Given the description of an element on the screen output the (x, y) to click on. 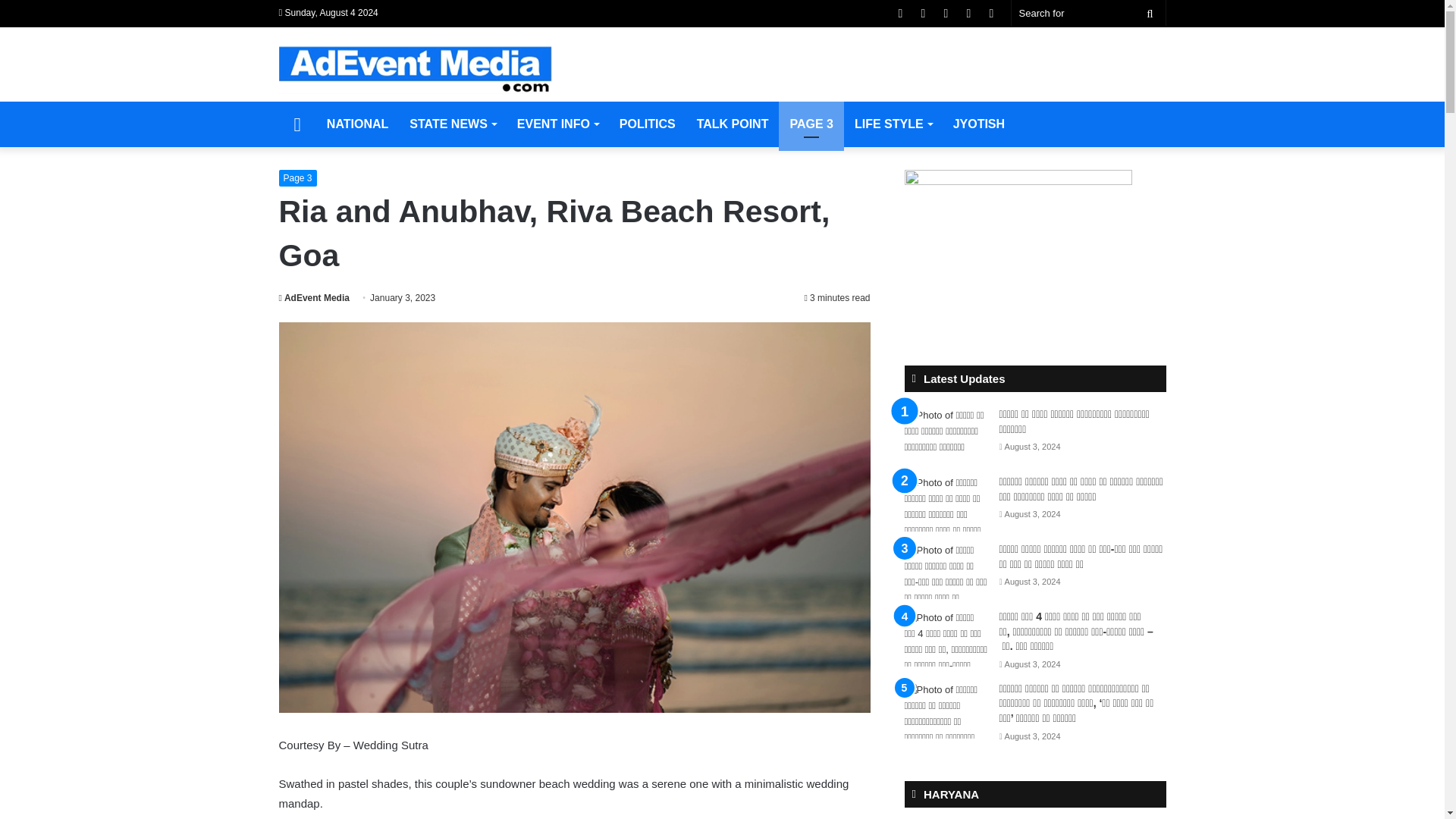
Search for (1150, 13)
Search for (1088, 13)
Page 3 (298, 177)
EVENT INFO (557, 124)
LIFE STYLE (893, 124)
AdEvent Media (314, 297)
NATIONAL (356, 124)
POLITICS (646, 124)
STATE NEWS (452, 124)
PAGE 3 (811, 124)
TALK POINT (731, 124)
JYOTISH (978, 124)
Ad Event Media (415, 69)
